Given the description of an element on the screen output the (x, y) to click on. 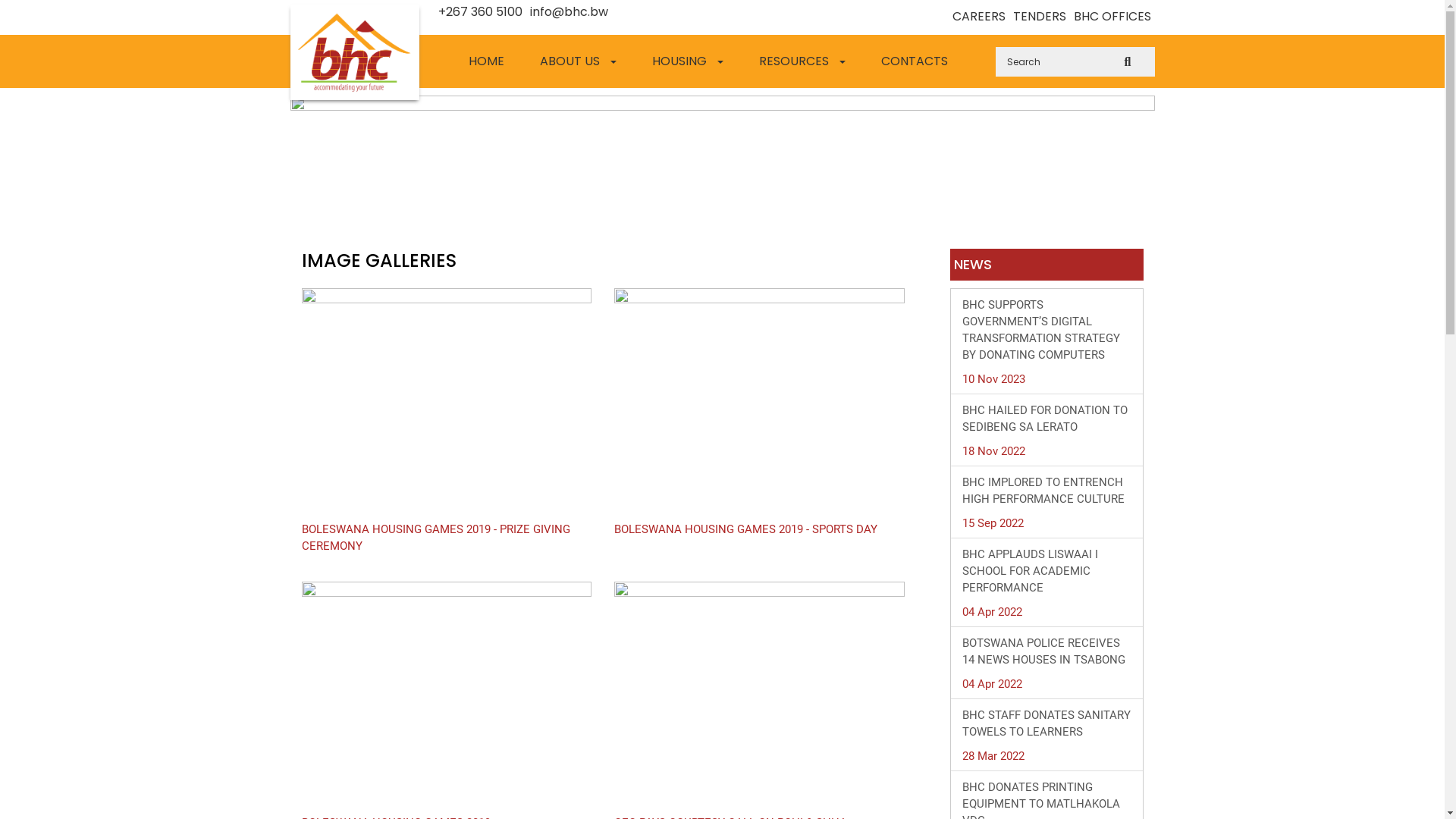
BHC IMPLORED TO ENTRENCH HIGH PERFORMANCE CULTURE Element type: text (1046, 490)
Home Element type: hover (354, 51)
BHC STAFF DONATES SANITARY TOWELS TO LEARNERS Element type: text (1046, 723)
BHC HAILED FOR DONATION TO SEDIBENG SA LERATO Element type: text (1046, 418)
info@bhc.bw Element type: text (568, 11)
CAREERS Element type: text (978, 16)
BHC APPLAUDS LISWAAI I SCHOOL FOR ACADEMIC PERFORMANCE Element type: text (1046, 570)
HOME Element type: text (489, 60)
BOLESWANA HOUSING GAMES 2019 - PRIZE GIVING CEREMONY Element type: text (446, 537)
Skip to main content Element type: text (52, 0)
RESOURCES Element type: text (805, 60)
BOTSWANA POLICE RECEIVES 14 NEWS HOUSES IN TSABONG Element type: text (1046, 651)
Enter the terms you wish to search for. Element type: hover (1074, 61)
BHC OFFICES Element type: text (1112, 16)
HOUSING Element type: text (690, 60)
CONTACTS Element type: text (917, 60)
TENDERS Element type: text (1039, 16)
ABOUT US Element type: text (581, 60)
BOLESWANA HOUSING GAMES 2019 - SPORTS DAY Element type: text (745, 529)
